Given the description of an element on the screen output the (x, y) to click on. 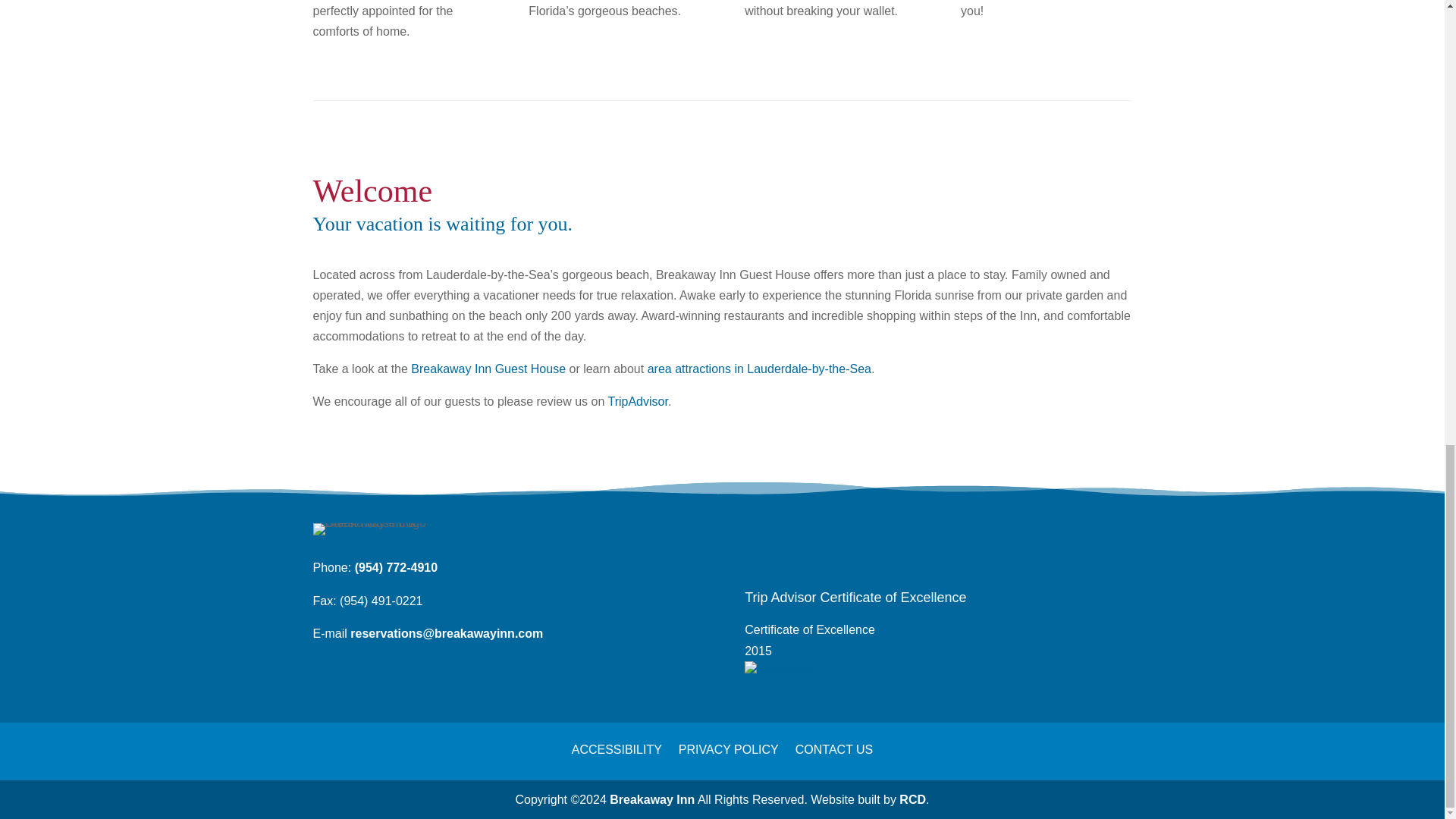
CONTACT US (833, 738)
PRIVACY POLICY (728, 738)
ACCESSIBILITY (617, 738)
Breakaway Inn at TripAdvisor.com (636, 400)
Breakaway Inn (652, 799)
Breakaway Inn Guest House (488, 368)
TripAdvisor (636, 400)
Area Attractions (758, 368)
area attractions in Lauderdale-by-the-Sea (758, 368)
RCD (912, 799)
